Given the description of an element on the screen output the (x, y) to click on. 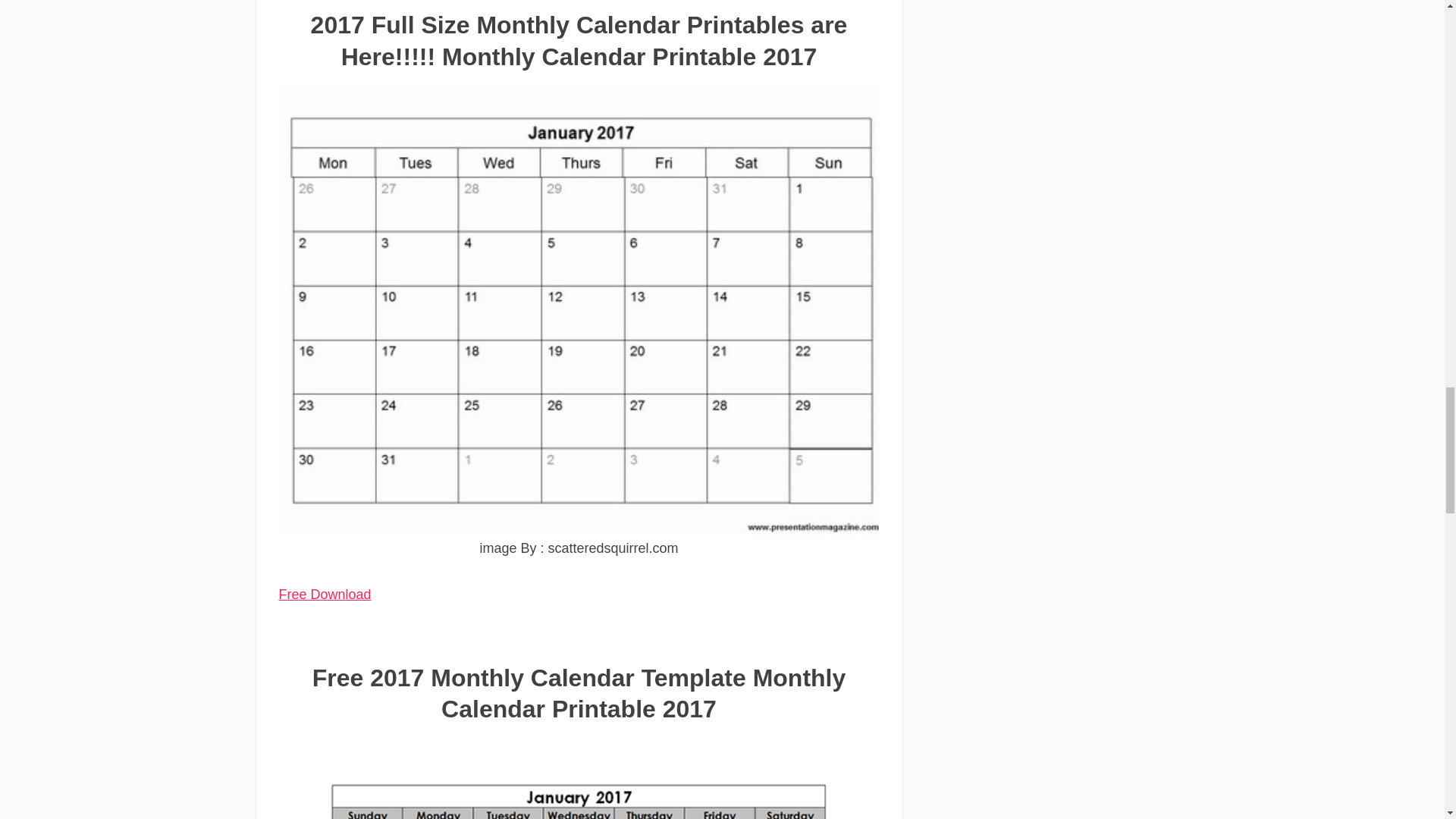
Free 2017 Monthly Calendar Template (579, 778)
Free Download (325, 594)
